Given the description of an element on the screen output the (x, y) to click on. 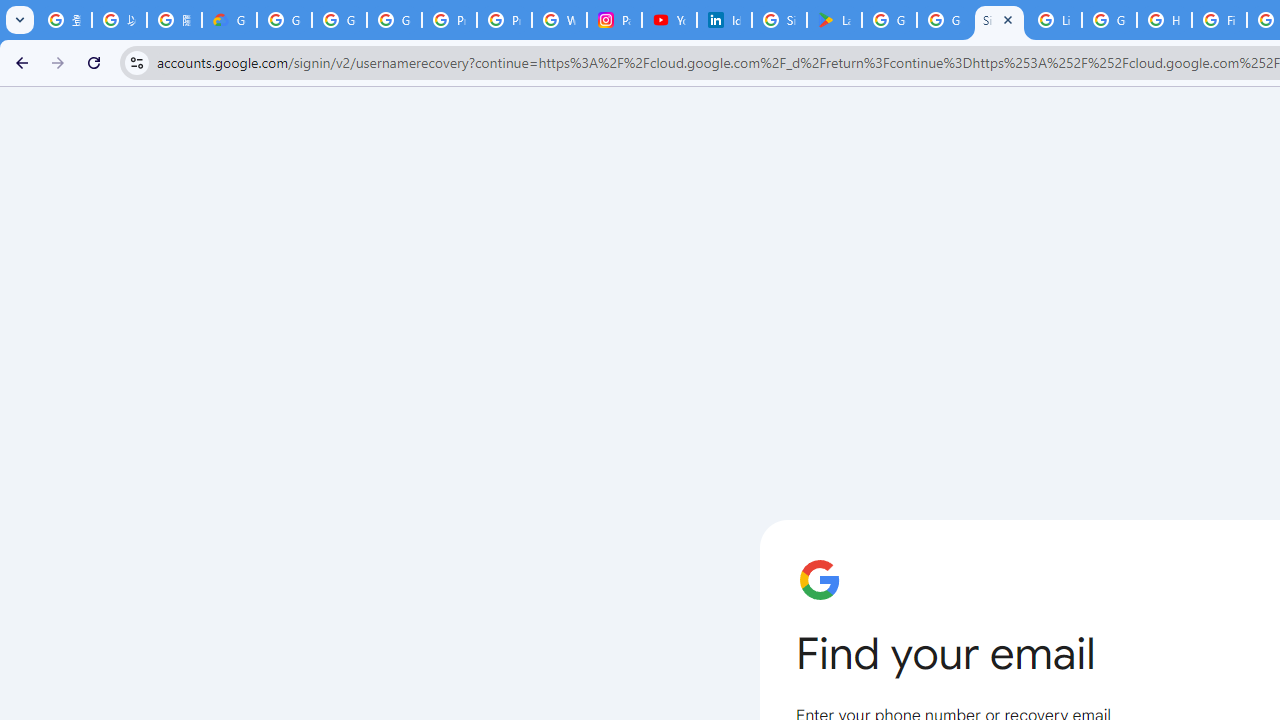
Forward (57, 62)
Search tabs (20, 20)
Reload (93, 62)
Privacy Help Center - Policies Help (504, 20)
Last Shelter: Survival - Apps on Google Play (833, 20)
